Given the description of an element on the screen output the (x, y) to click on. 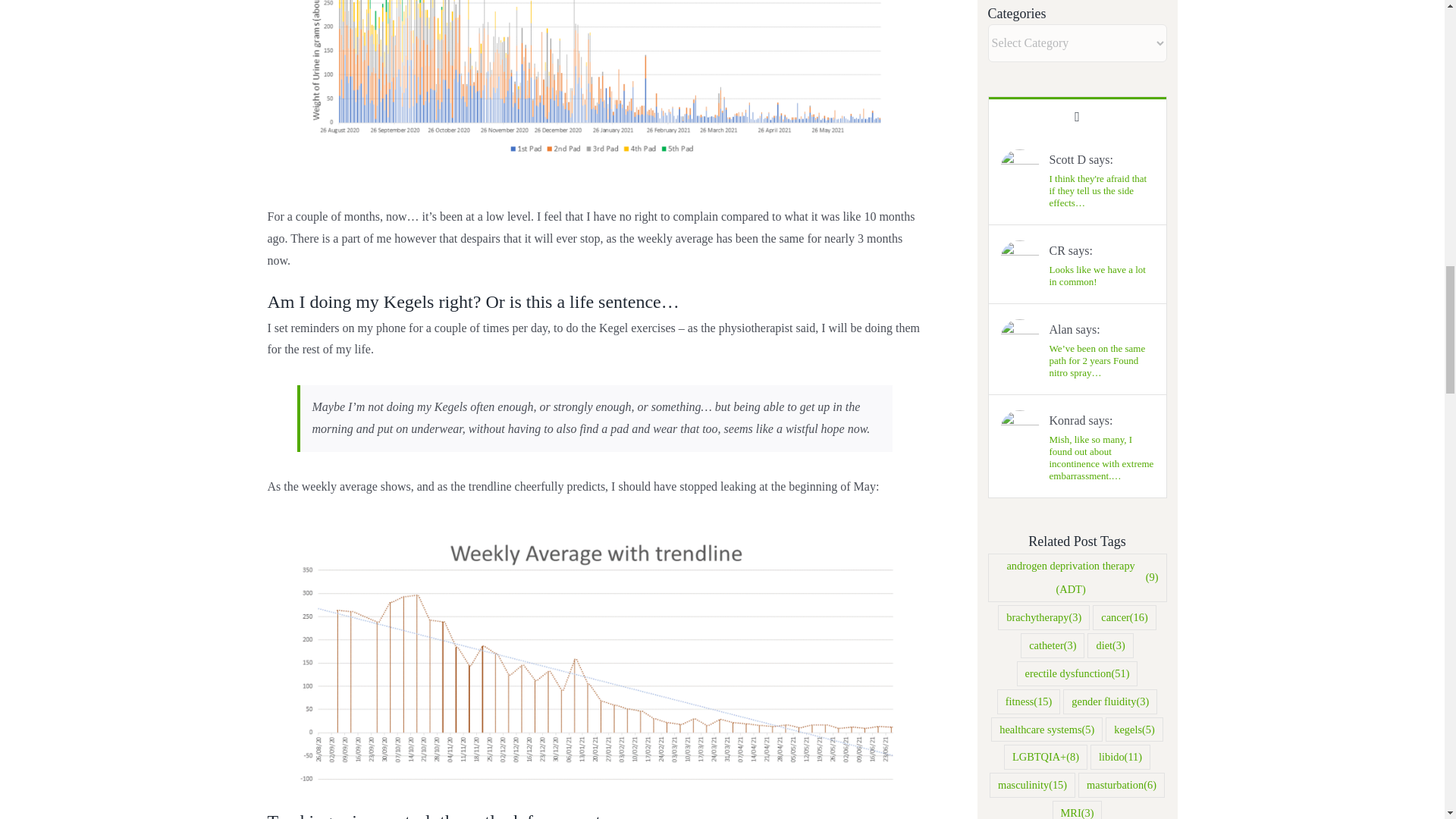
CR on Guest post: Yearning for sex (1101, 275)
